Given the description of an element on the screen output the (x, y) to click on. 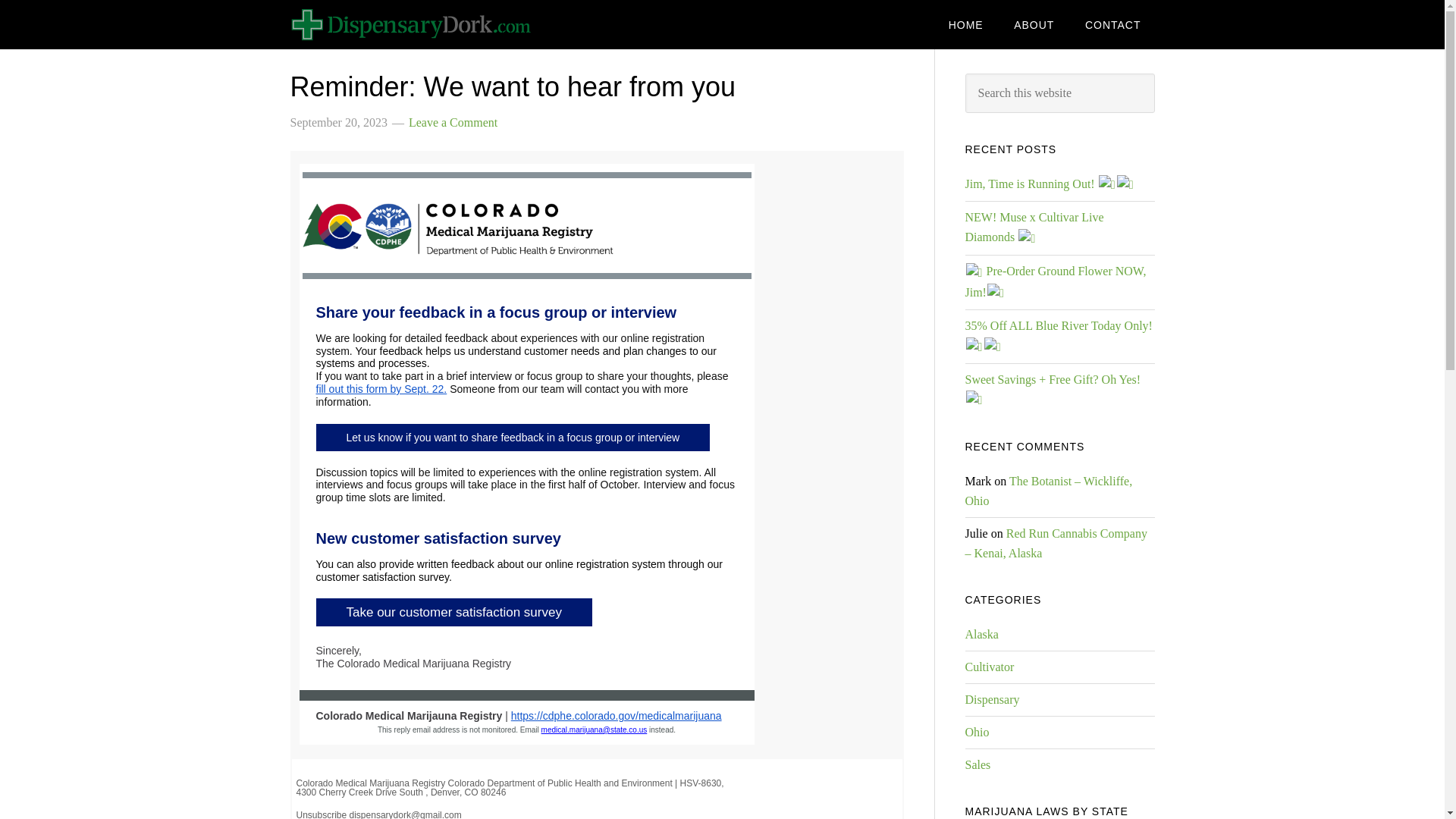
Alaska (980, 634)
ABOUT (1033, 24)
CONTACT (1112, 24)
Dispensary (991, 698)
Ohio (975, 731)
Sales (976, 764)
Pre-Order Ground Flower NOW, Jim! (1054, 281)
Leave a Comment (453, 122)
Cultivator (988, 666)
fill out this form by Sept. 22. (380, 388)
Jim, Time is Running Out! (1048, 183)
